Given the description of an element on the screen output the (x, y) to click on. 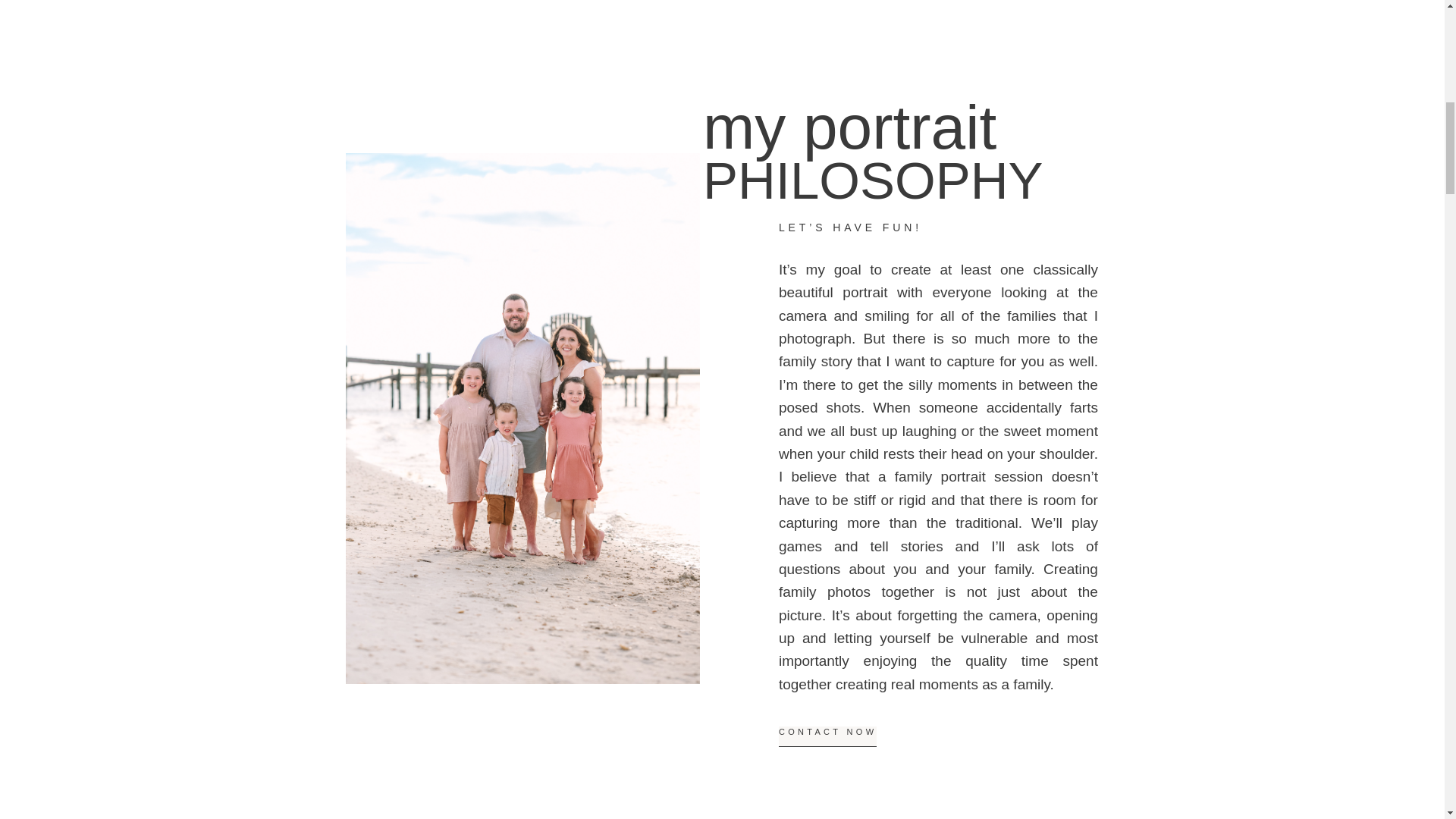
CONTACT NOW (827, 736)
